Given the description of an element on the screen output the (x, y) to click on. 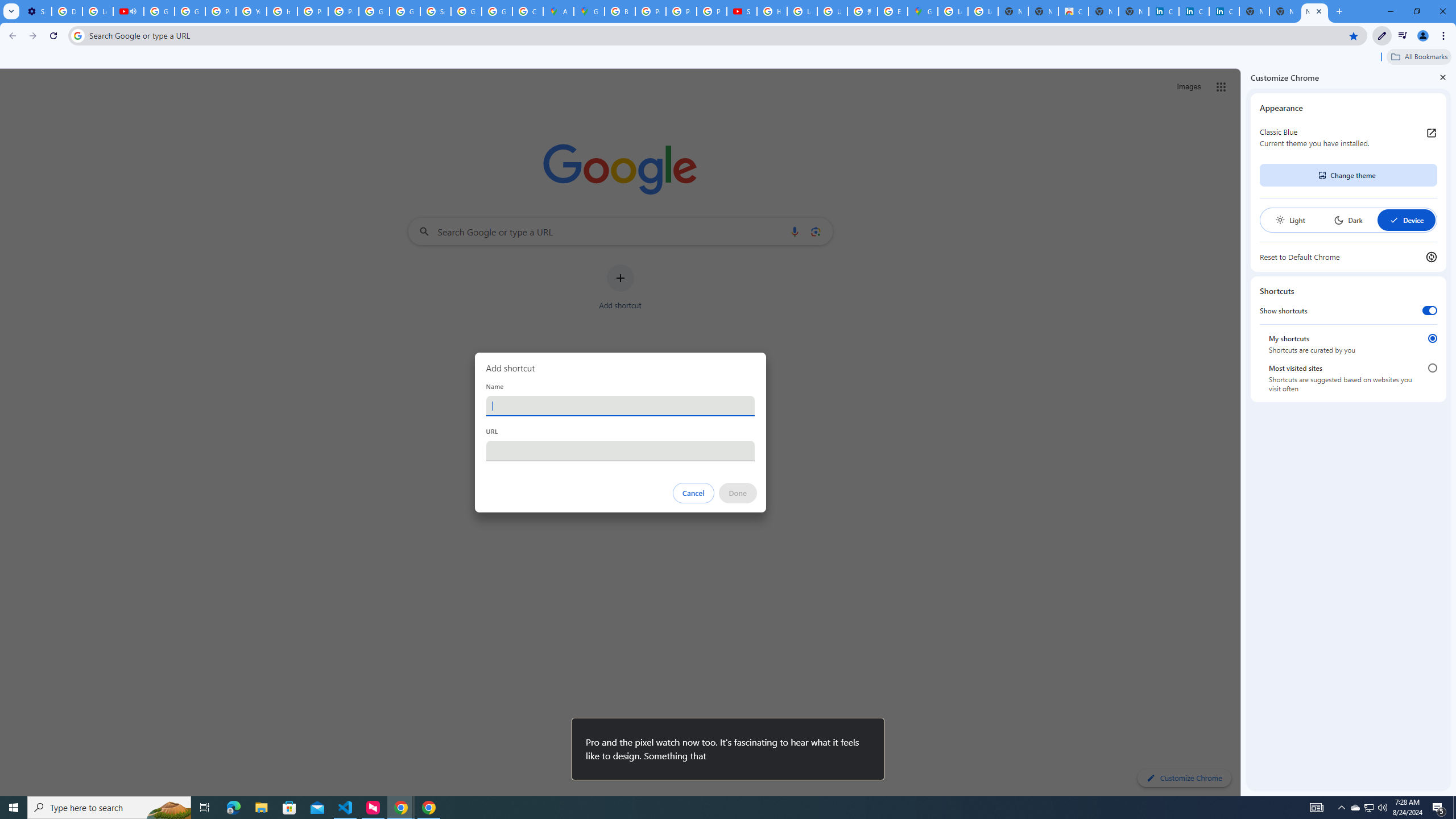
Blogger Policies and Guidelines - Transparency Center (619, 11)
YouTube (251, 11)
Copyright Policy (1224, 11)
AutomationID: baseSvg (1394, 219)
Most visited sites (1432, 367)
Show shortcuts (1429, 310)
Create your Google Account (527, 11)
